Given the description of an element on the screen output the (x, y) to click on. 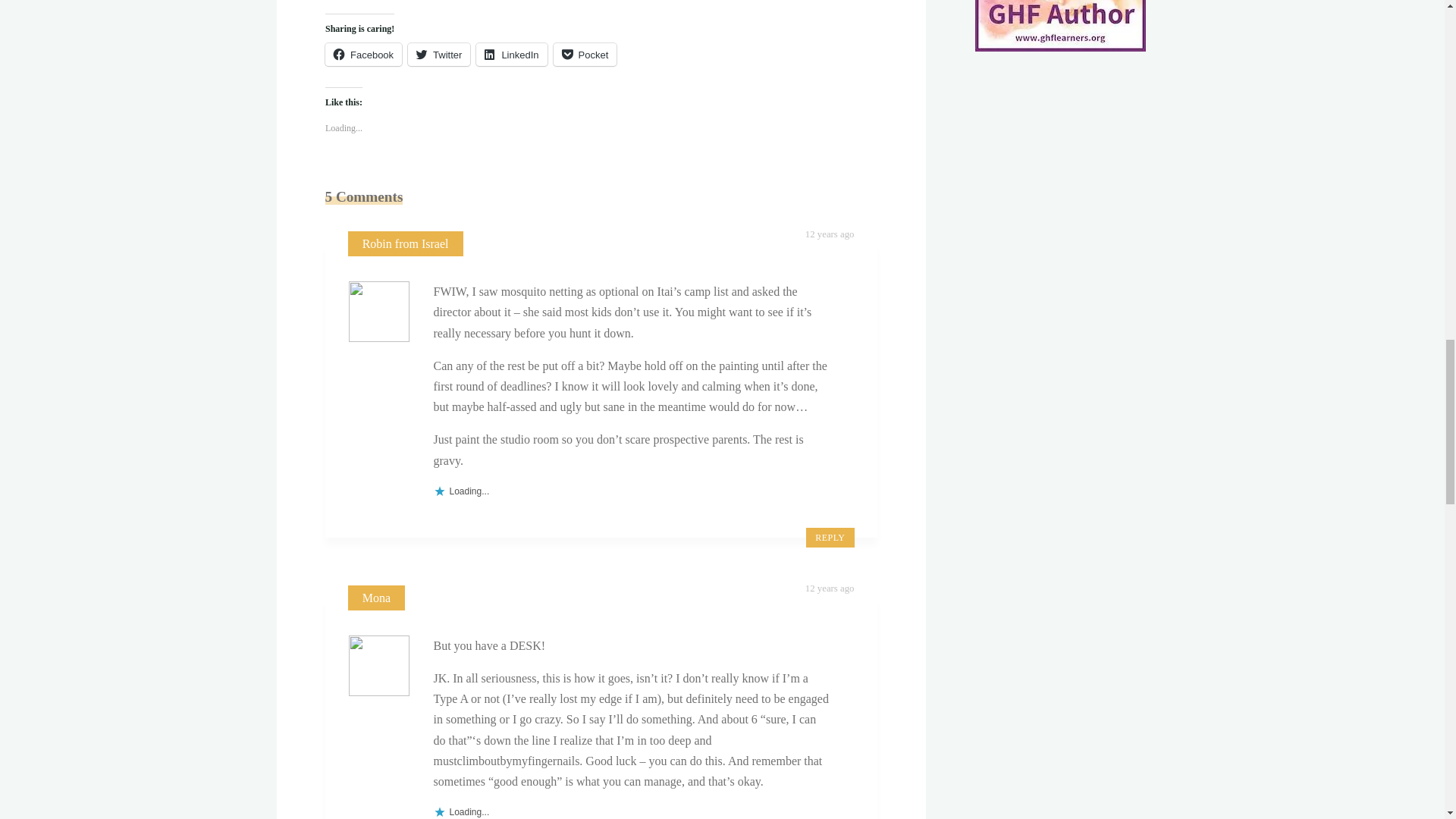
Click to share on Twitter (438, 54)
REPLY (829, 537)
Facebook (362, 54)
Twitter (438, 54)
Robin from Israel (405, 243)
12 years ago (829, 234)
Pocket (584, 54)
12 years ago (829, 588)
Click to share on Facebook (362, 54)
Click to share on LinkedIn (511, 54)
LinkedIn (511, 54)
